Given the description of an element on the screen output the (x, y) to click on. 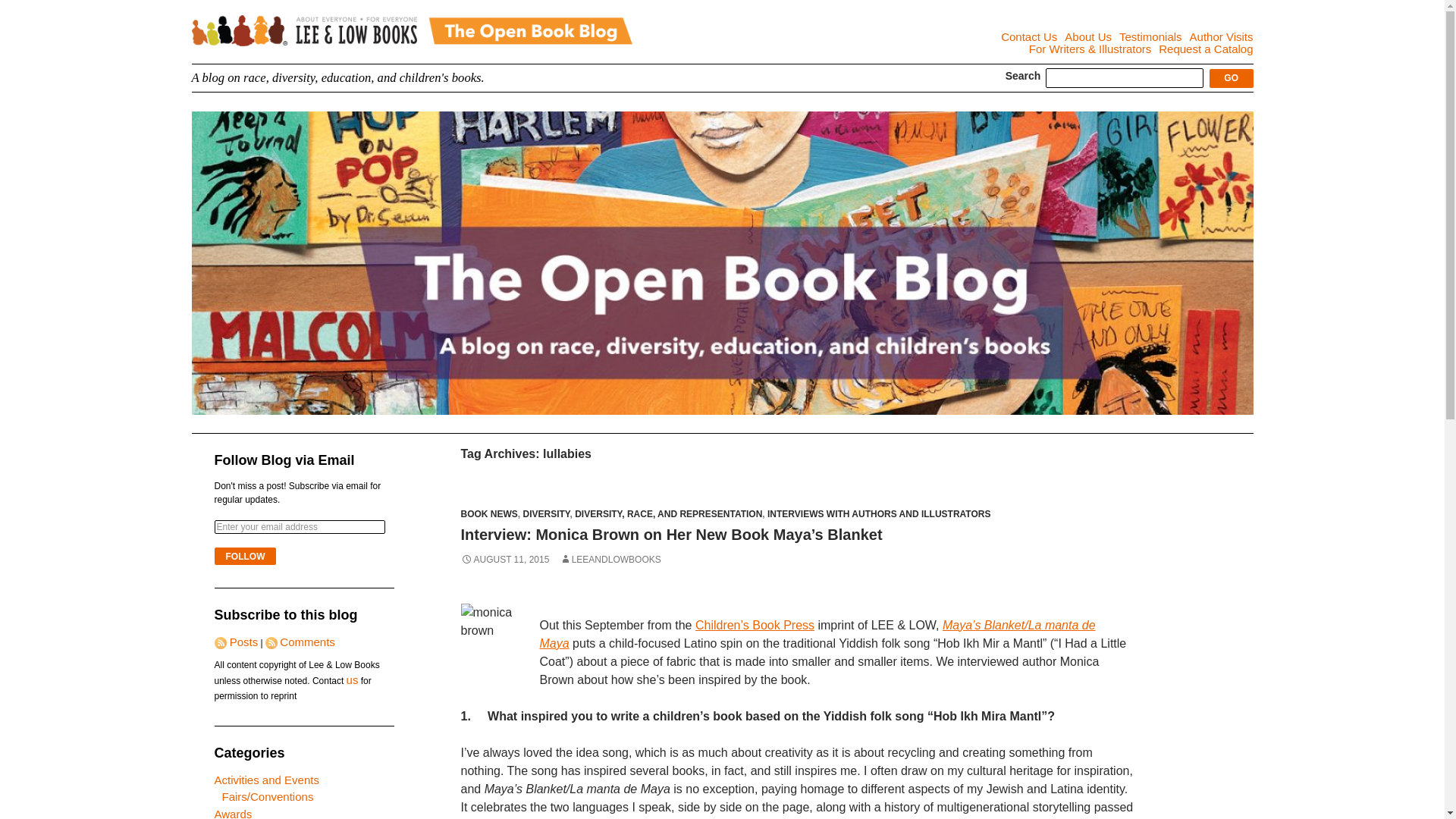
Posts (241, 641)
maya's blanket (818, 634)
DIVERSITY, RACE, AND REPRESENTATION (668, 513)
Follow (245, 556)
About Us (1088, 36)
Testimonials (1150, 36)
LEEANDLOWBOOKS (610, 559)
Author Visits (1221, 36)
BOOK NEWS (489, 513)
Contact Us (1029, 36)
AUGUST 11, 2015 (505, 559)
Request a Catalog (1205, 48)
GO (1231, 77)
INTERVIEWS WITH AUTHORS AND ILLUSTRATORS (878, 513)
children's book press (754, 625)
